Given the description of an element on the screen output the (x, y) to click on. 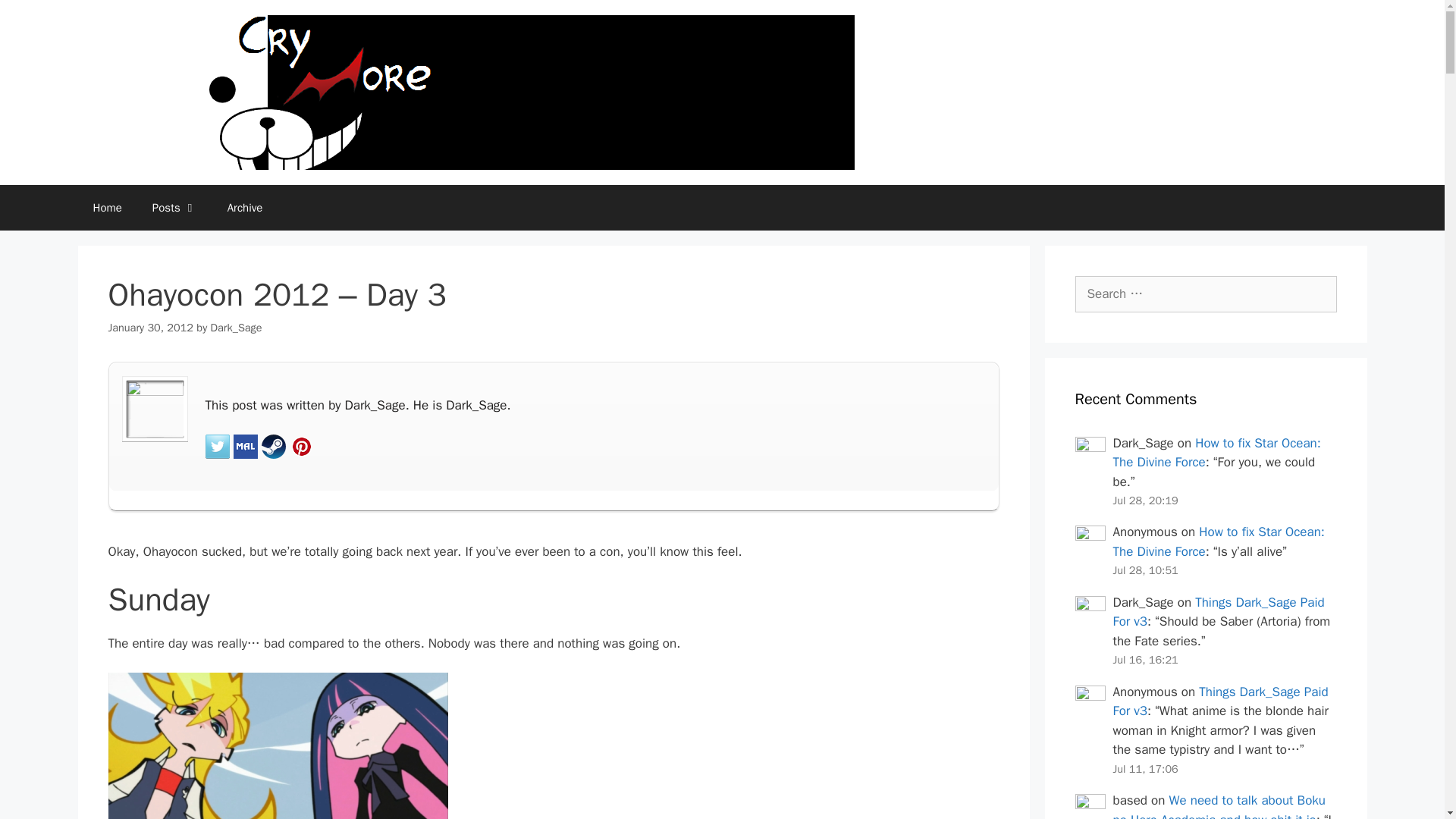
ps-unimpressed (276, 745)
Posts (174, 207)
Search for: (1205, 294)
Twitter (216, 446)
Archive (245, 207)
Home (106, 207)
